Given the description of an element on the screen output the (x, y) to click on. 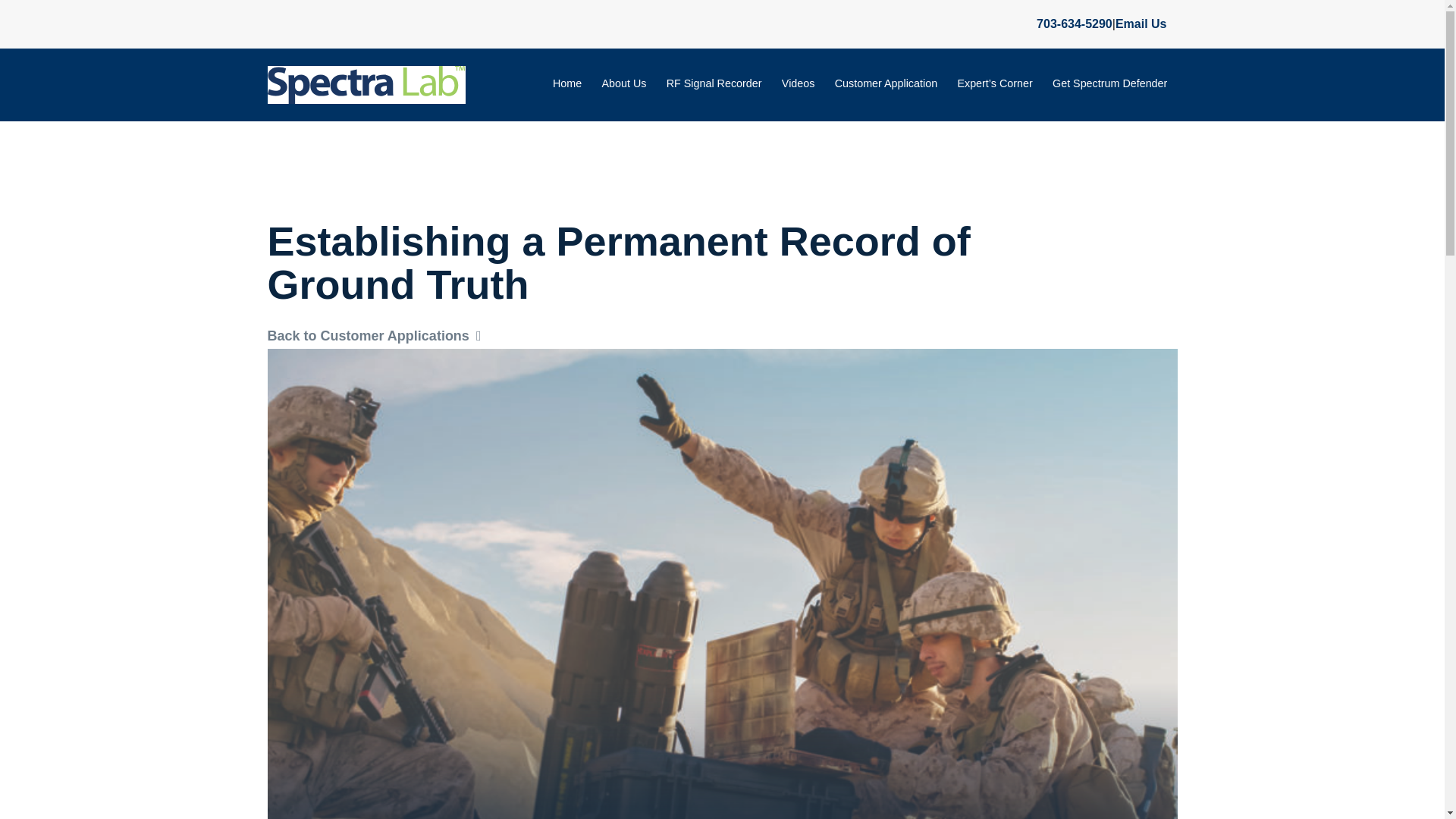
RF Signal Recorder (713, 84)
Get Spectrum Defender (1109, 84)
Back to Customer Applications (373, 337)
703-634-5290 (1074, 23)
Customer Application (886, 84)
Email Us (1141, 23)
